Given the description of an element on the screen output the (x, y) to click on. 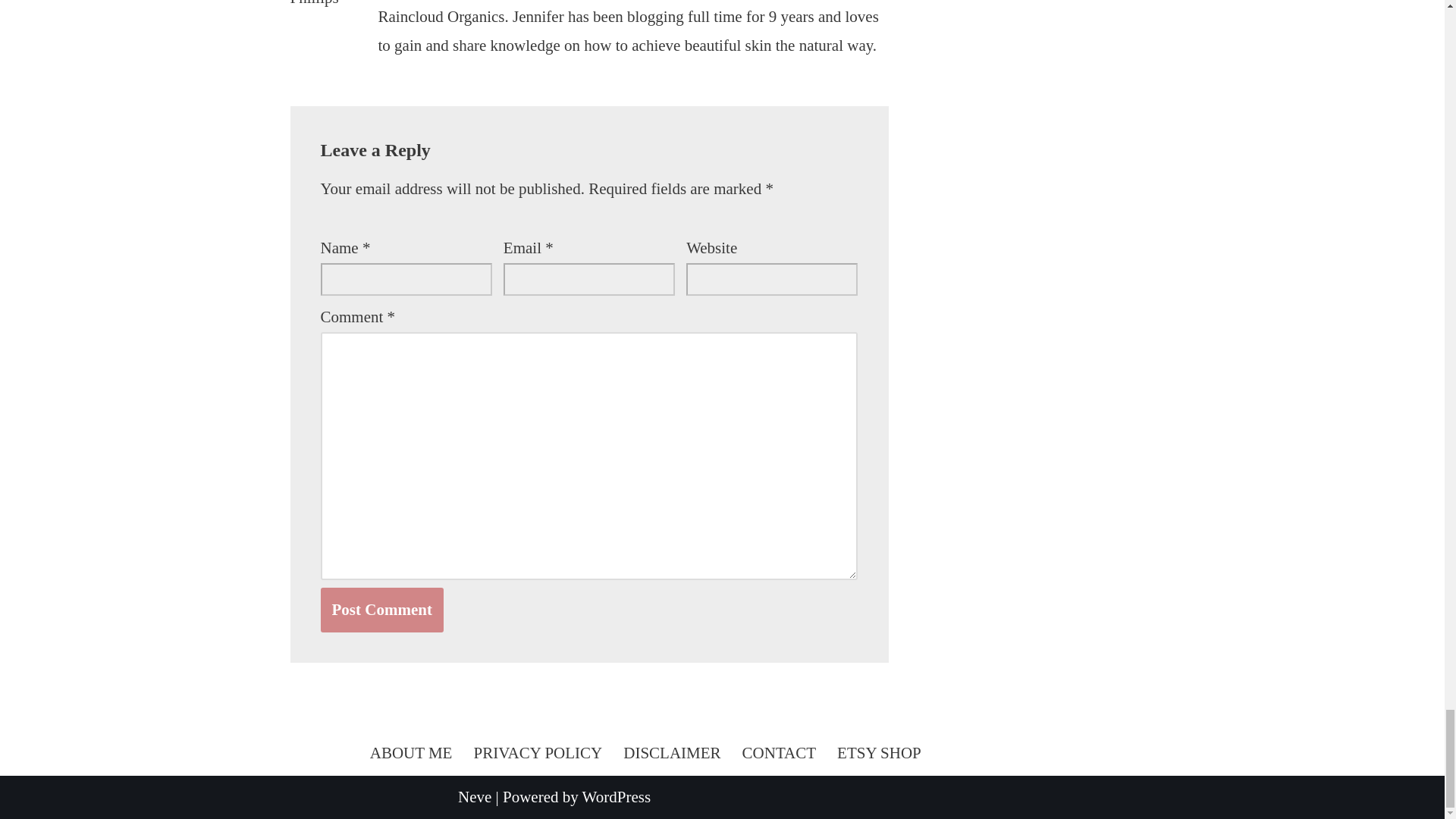
Post Comment (381, 610)
